Given the description of an element on the screen output the (x, y) to click on. 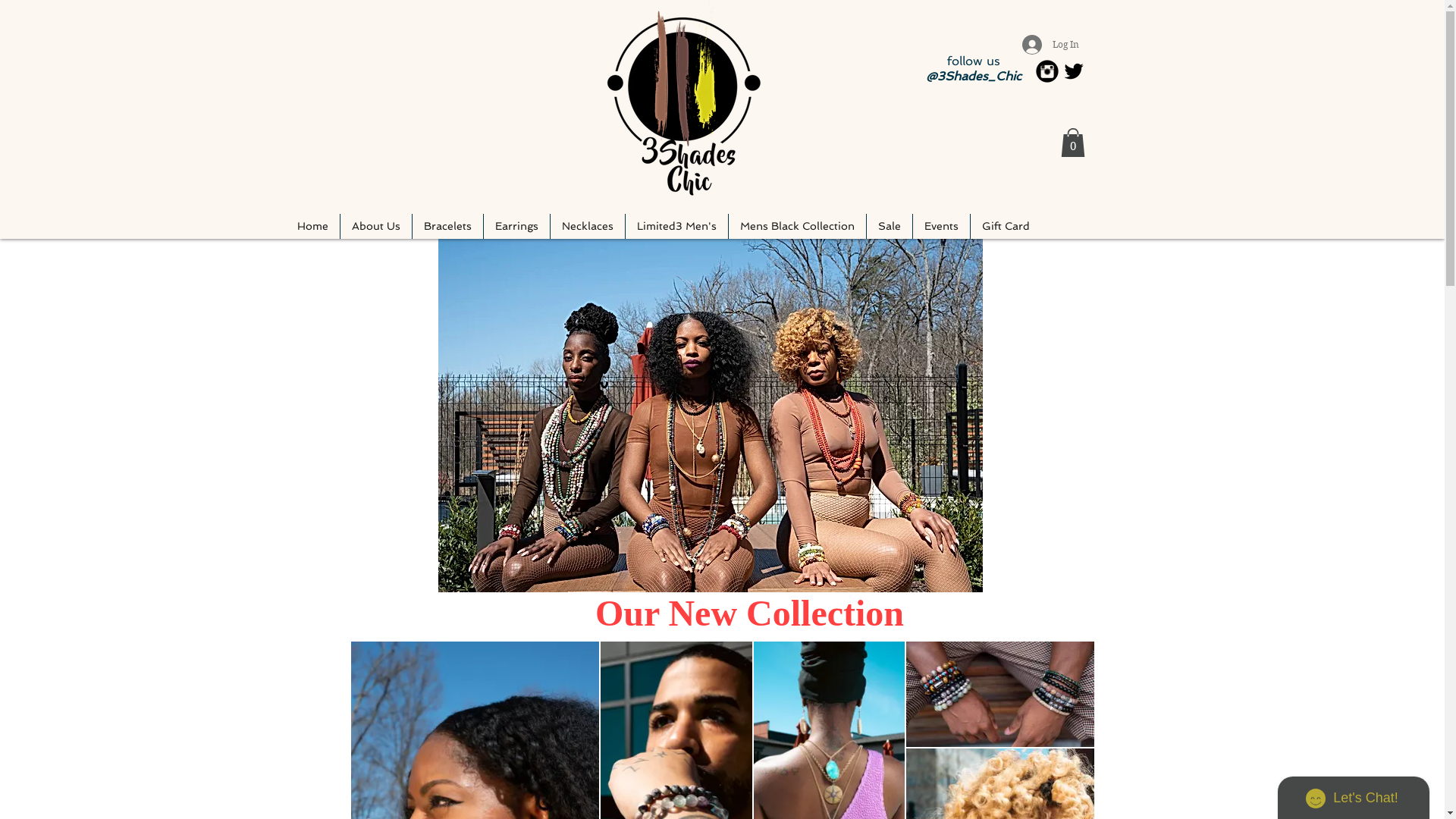
Limited3 Men's Element type: text (675, 225)
Sale Element type: text (888, 225)
Necklaces Element type: text (587, 225)
Bracelets Element type: text (447, 225)
0 Element type: text (1072, 142)
Log In Element type: text (1050, 44)
Earrings Element type: text (516, 225)
About Us Element type: text (375, 225)
Events Element type: text (941, 225)
Gift Card Element type: text (1005, 225)
Mens Black Collection Element type: text (796, 225)
Home Element type: text (311, 225)
